Given the description of an element on the screen output the (x, y) to click on. 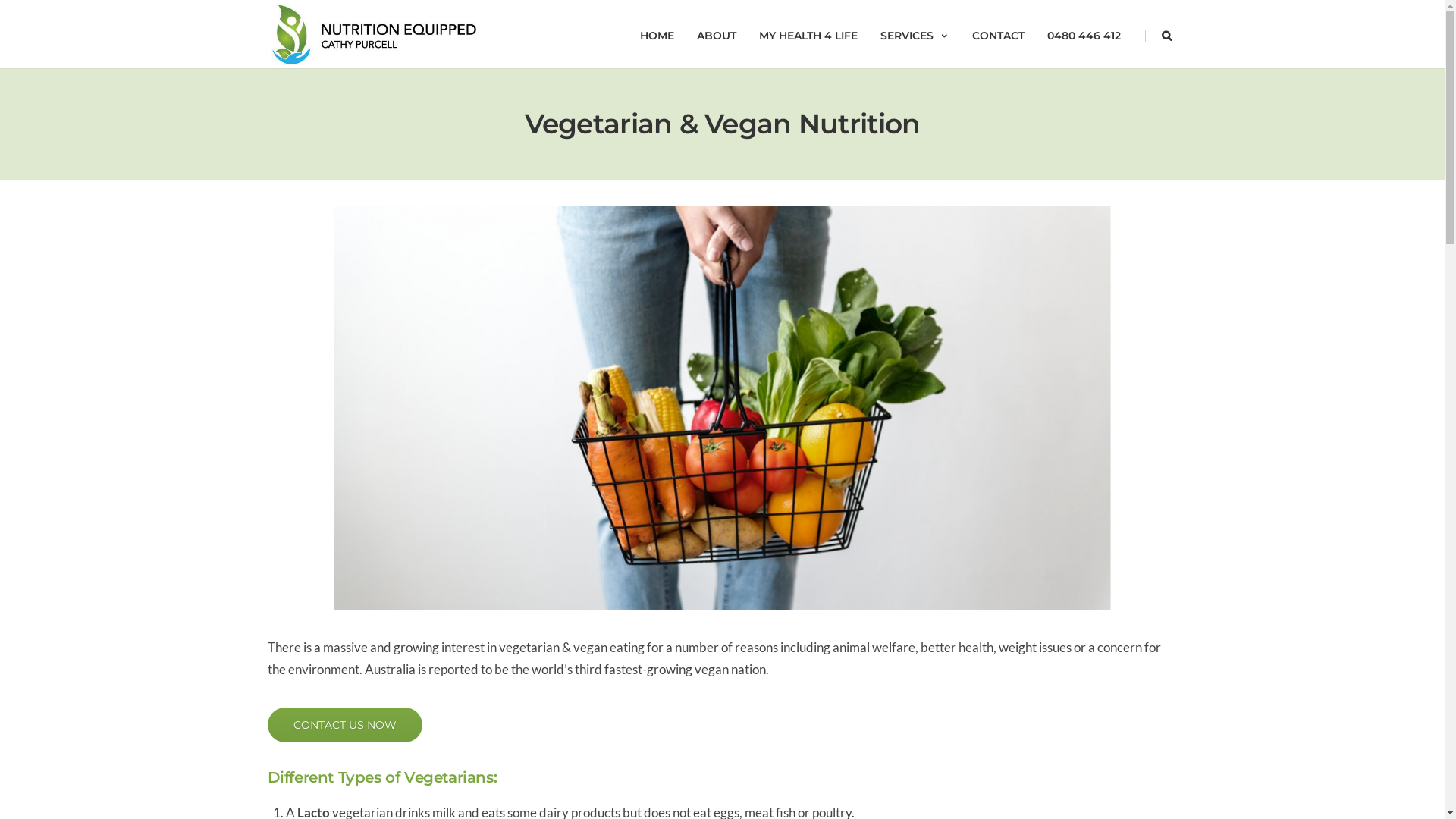
MY HEALTH 4 LIFE Element type: text (808, 34)
SERVICES Element type: text (914, 34)
0480 446 412 Element type: text (1083, 34)
| Element type: text (1140, 34)
CONTACT Element type: text (997, 34)
ABOUT Element type: text (716, 34)
CONTACT US NOW Element type: text (343, 724)
HOME Element type: text (655, 34)
